Given the description of an element on the screen output the (x, y) to click on. 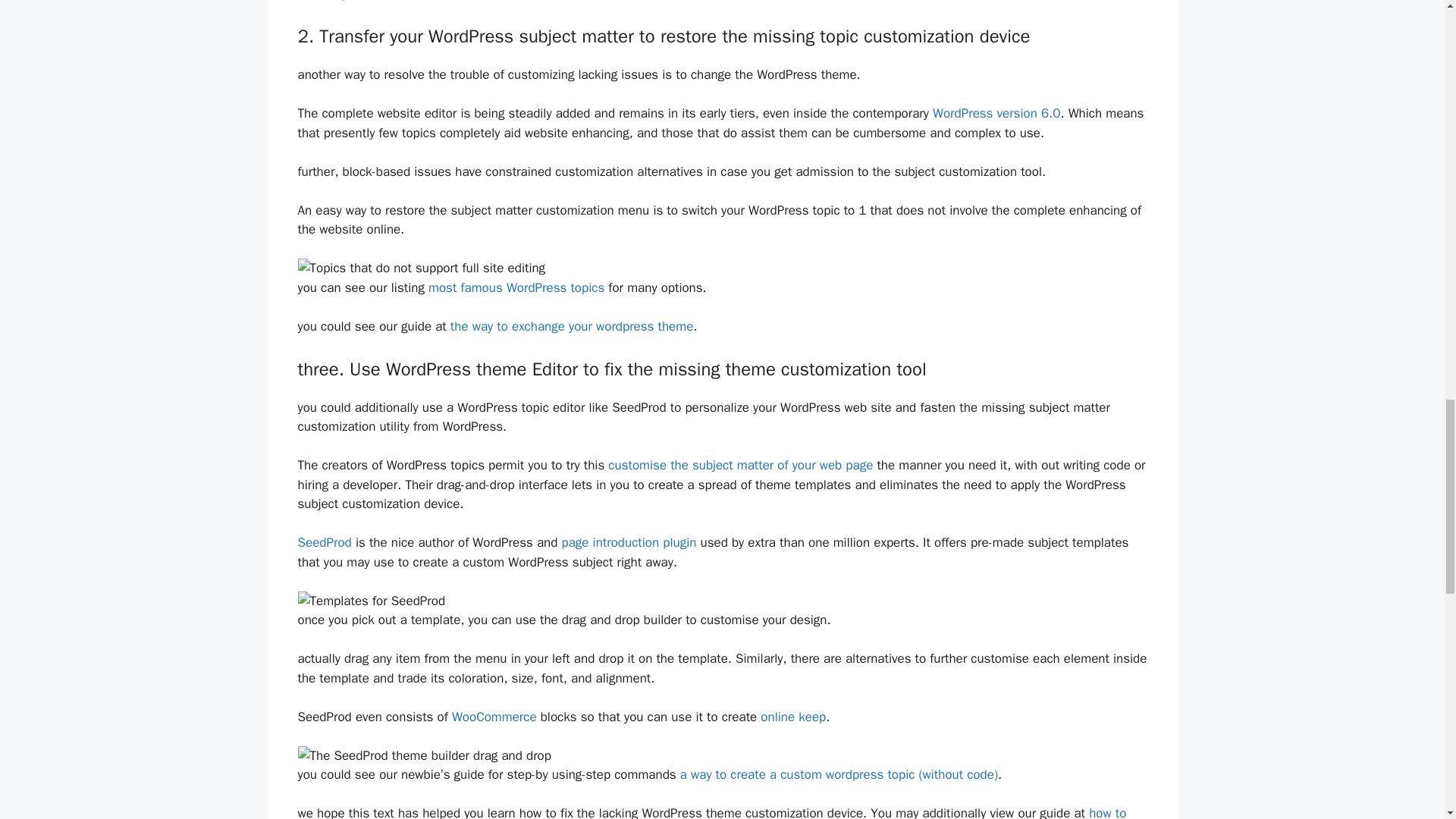
Topics that do not support full site editing (420, 268)
online keep (792, 716)
WooCommerce (494, 716)
WordPress version 6.0 (996, 113)
SeedProd (323, 542)
page introduction plugin (627, 542)
customise the subject matter of your web page (740, 465)
the way to exchange your wordpress theme (571, 326)
most famous WordPress topics (516, 287)
